Given the description of an element on the screen output the (x, y) to click on. 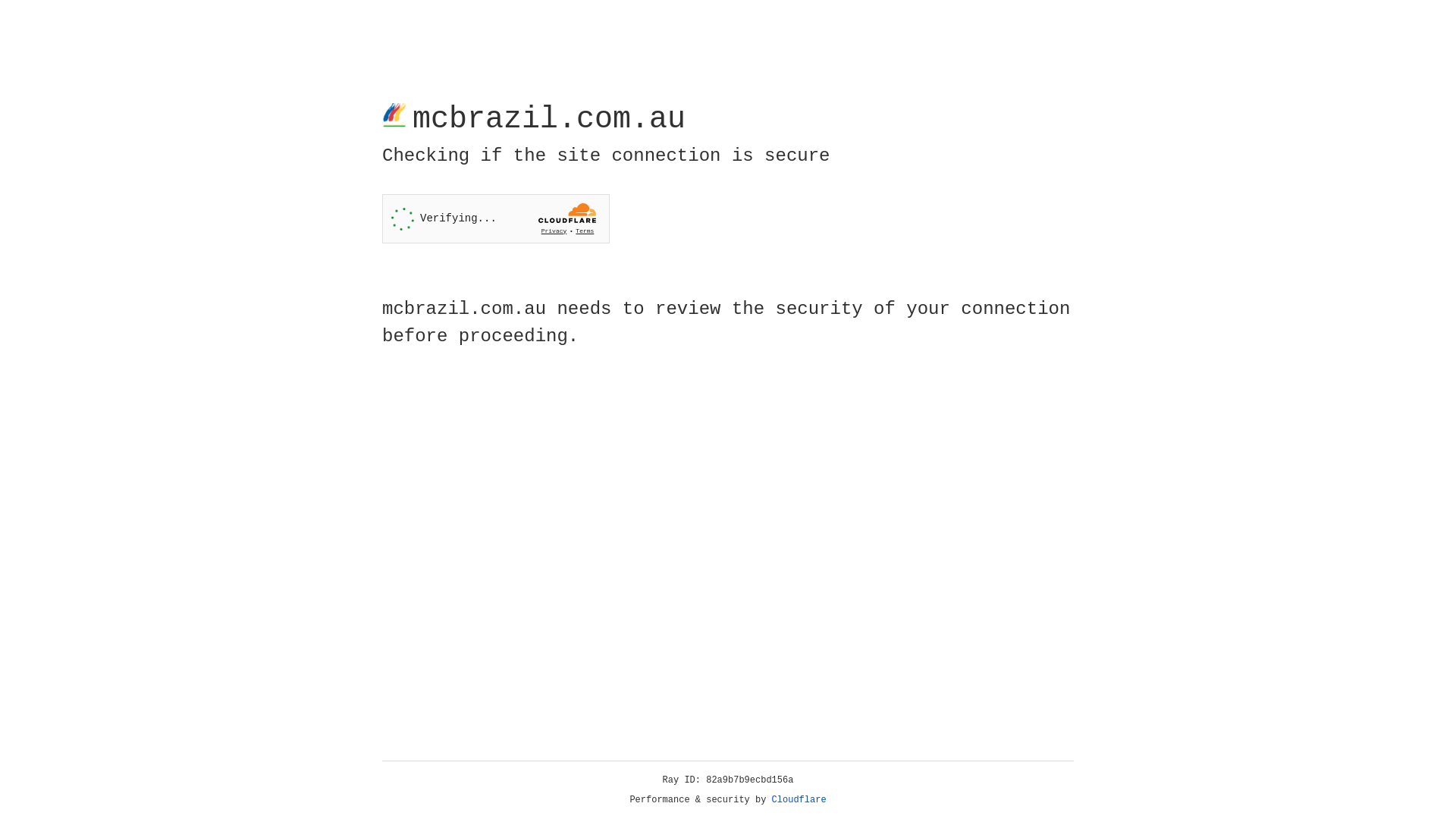
Cloudflare Element type: text (798, 799)
Widget containing a Cloudflare security challenge Element type: hover (495, 218)
